Given the description of an element on the screen output the (x, y) to click on. 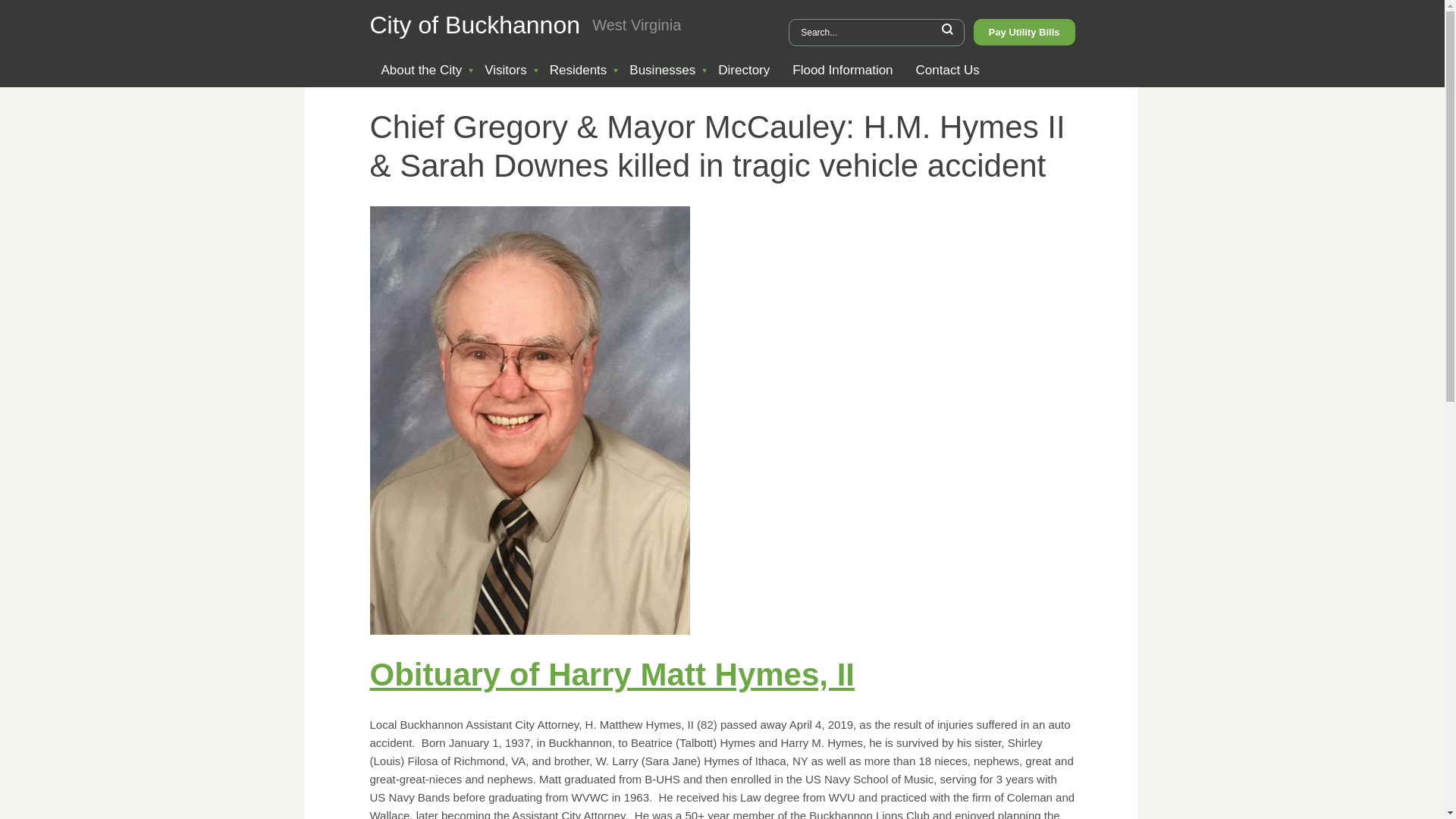
Search (947, 29)
Visitors (505, 70)
Search... (876, 31)
Pay Utility Bills (1024, 31)
About the City (421, 70)
Residents (578, 70)
Pay Utility Bills (1024, 31)
